Given the description of an element on the screen output the (x, y) to click on. 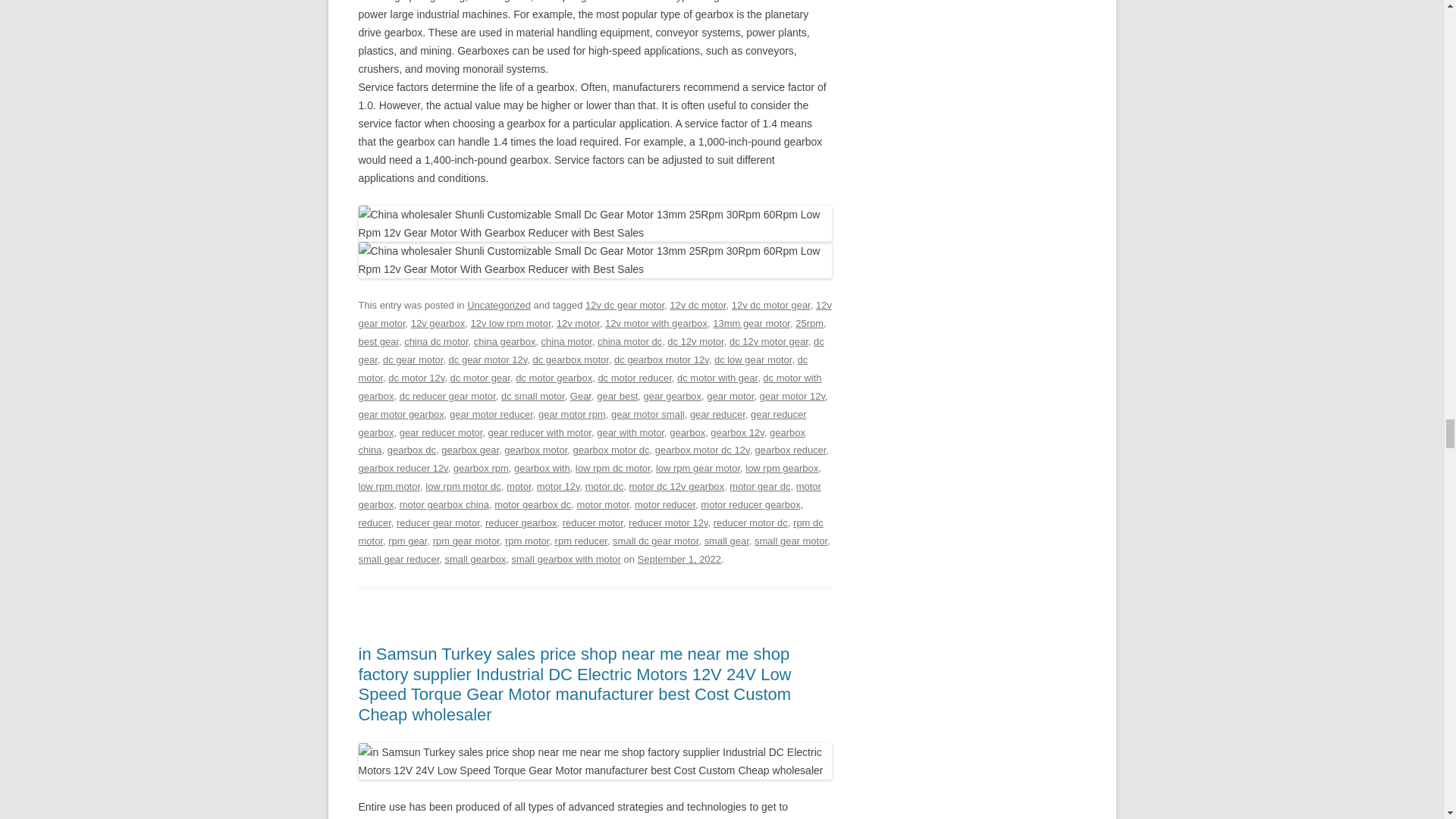
9:13 pm (678, 559)
